Given the description of an element on the screen output the (x, y) to click on. 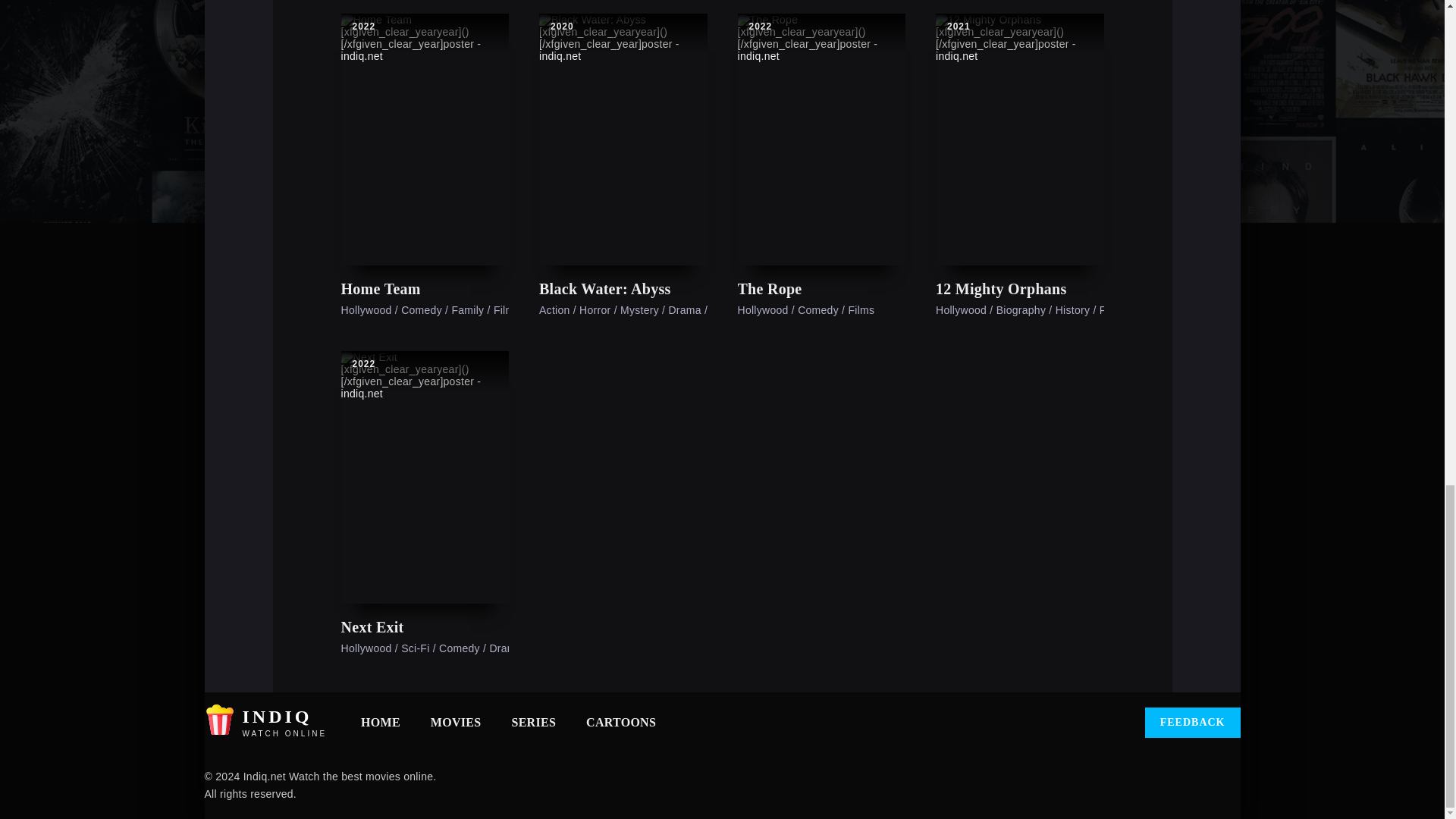
Home Team (424, 289)
Comedy (421, 309)
Family (467, 309)
Films (506, 309)
Hollywood (365, 309)
2022 (363, 26)
